Given the description of an element on the screen output the (x, y) to click on. 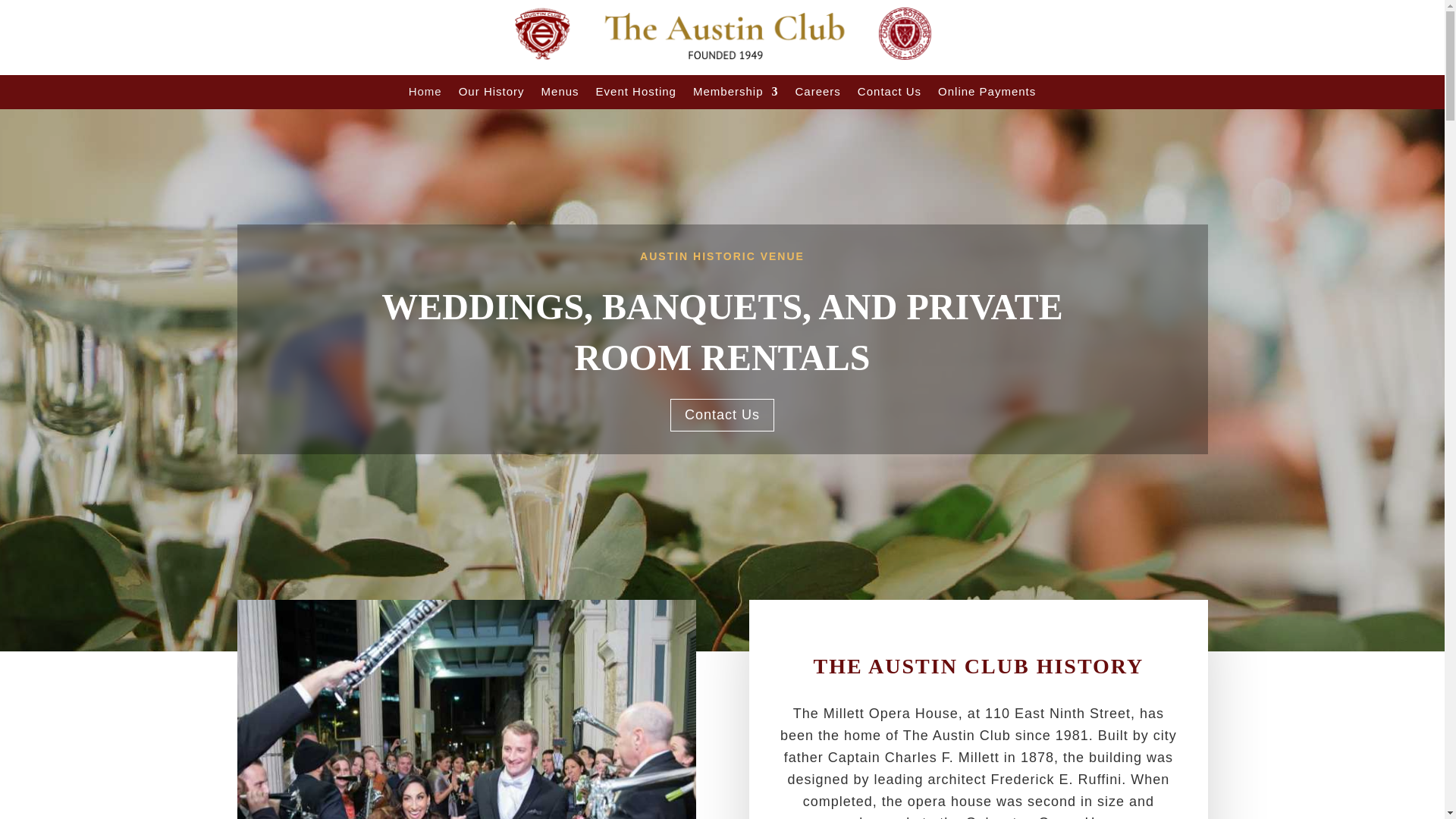
Careers (817, 94)
Contact Us (721, 414)
Menus (560, 94)
Event Hosting (636, 94)
Contact Us (889, 94)
Membership (735, 94)
austin-club-logo-cormorant (722, 33)
Home (425, 94)
Our History (491, 94)
Online Payments (986, 94)
